Given the description of an element on the screen output the (x, y) to click on. 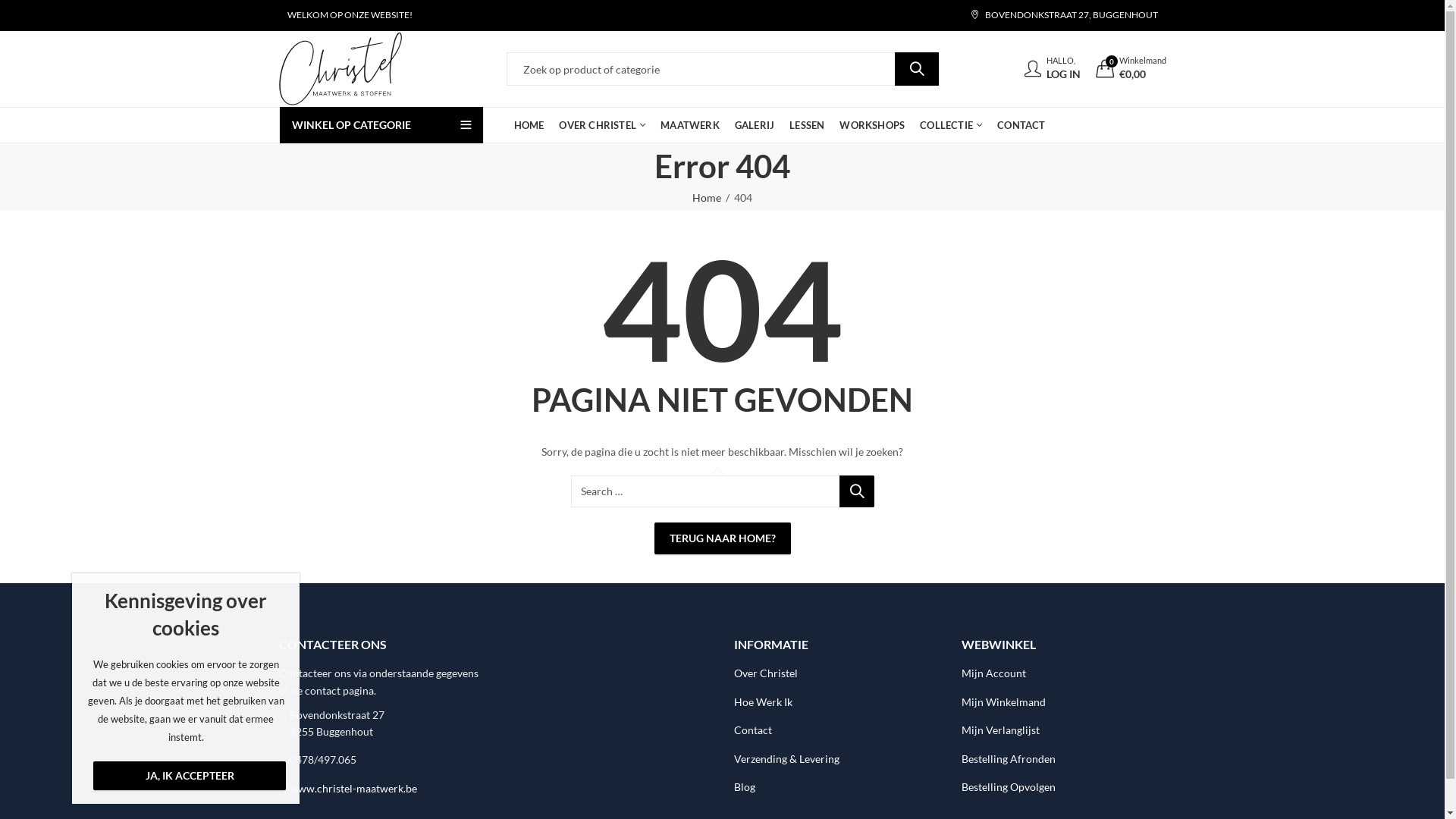
SEARCH Element type: text (855, 491)
JA, IK ACCEPTEER Element type: text (189, 775)
LESSEN Element type: text (806, 124)
Bestelling Afronden Element type: text (1008, 758)
Over Christel Element type: text (765, 672)
Blog Element type: text (744, 786)
CONTACT Element type: text (1020, 124)
OVER CHRISTEL Element type: text (601, 124)
Home Element type: text (706, 197)
Contact Element type: text (752, 729)
TERUG NAAR HOME? Element type: text (721, 538)
GALERIJ Element type: text (754, 124)
Mijn Verlanglijst Element type: text (1000, 729)
www.christel-maatwerk.be Element type: text (353, 787)
WORKSHOPS Element type: text (871, 124)
COLLECTIE Element type: text (950, 124)
SEARCH Element type: text (916, 68)
Hoe Werk Ik Element type: text (763, 701)
HALLO,
LOG IN Element type: text (1051, 69)
HOME Element type: text (529, 124)
Verzending & Levering Element type: text (786, 758)
MAATWERK Element type: text (689, 124)
Mijn Winkelmand Element type: text (1003, 701)
Mijn Account Element type: text (993, 672)
Bestelling Opvolgen Element type: text (1008, 786)
